Given the description of an element on the screen output the (x, y) to click on. 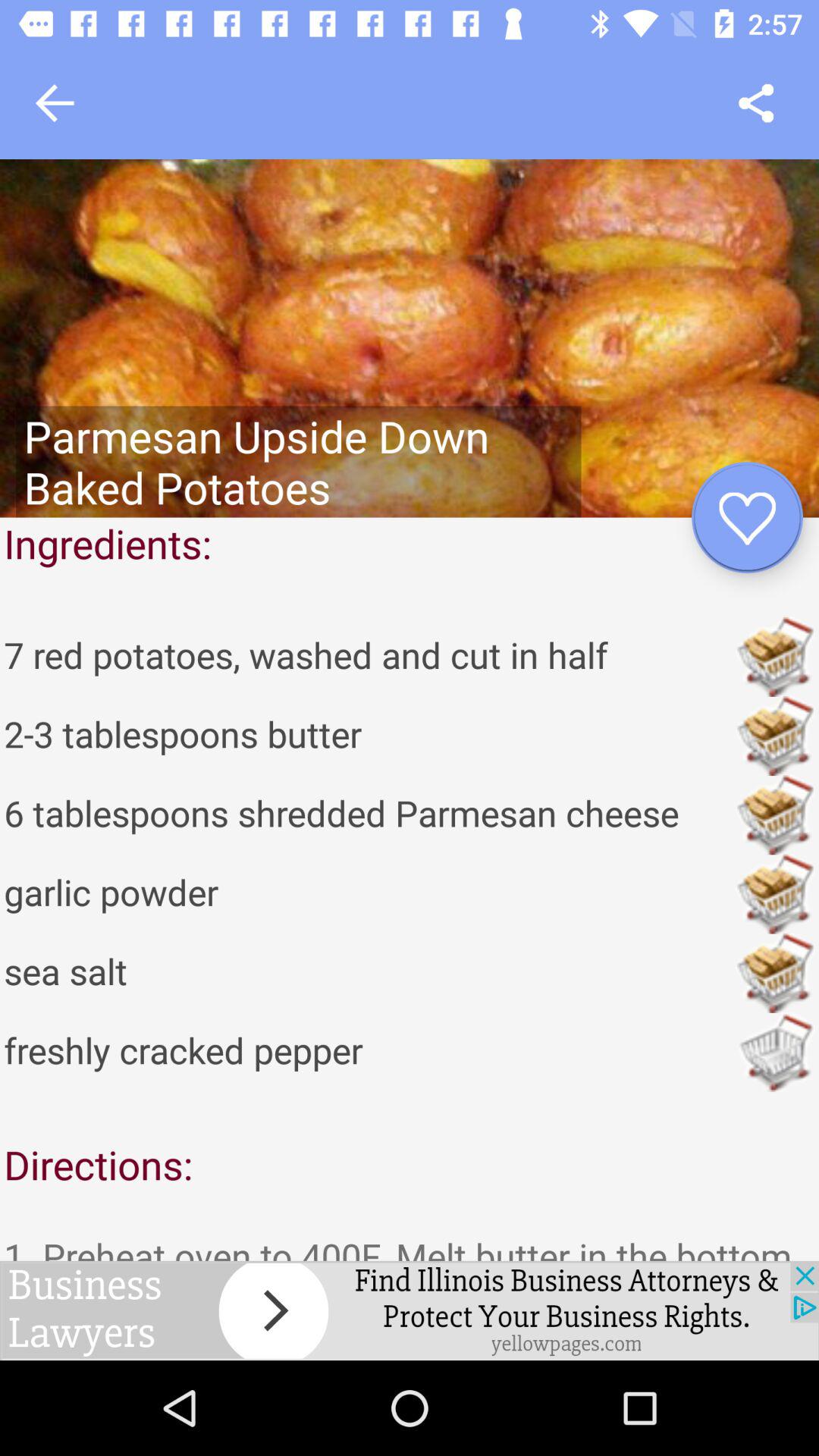
add to favourite (747, 517)
